Given the description of an element on the screen output the (x, y) to click on. 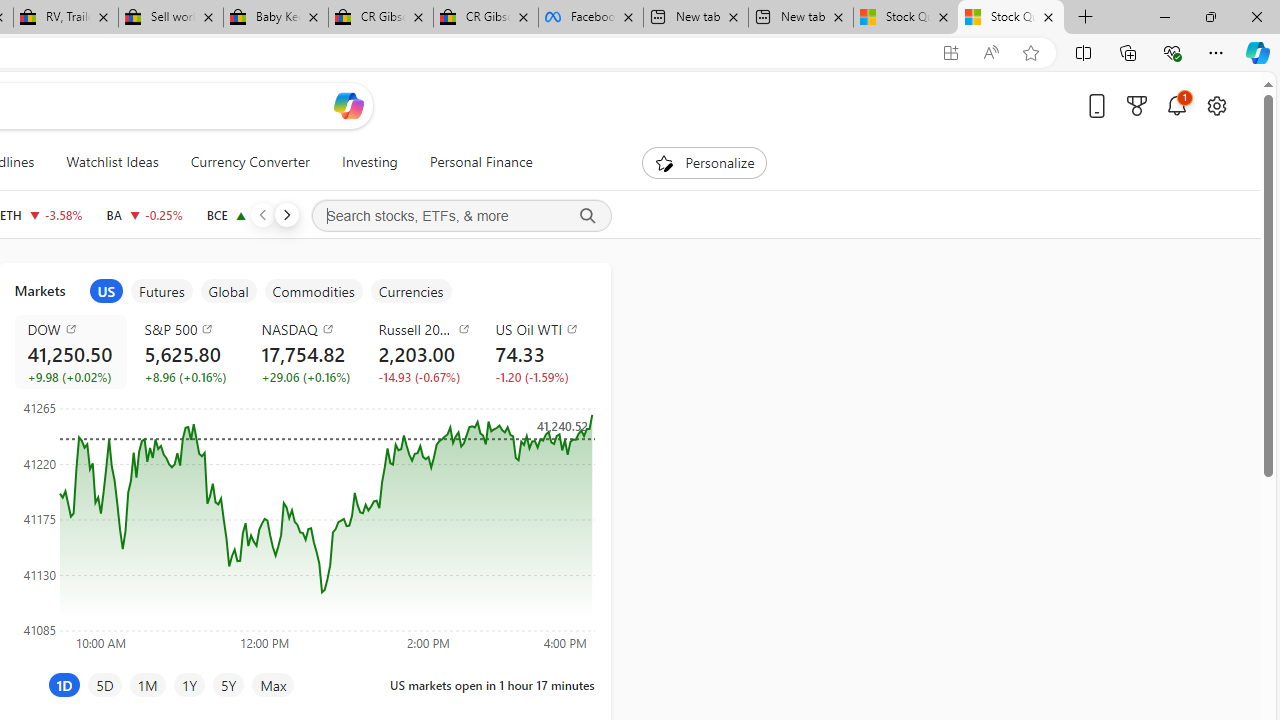
Previous (262, 214)
5Y (228, 684)
Watchlist Ideas (112, 162)
1M (147, 684)
1D (64, 684)
Baby Keepsakes & Announcements for sale | eBay (275, 17)
Futures (161, 291)
Investing (369, 162)
S&P 500 INX increase 5,625.80 +8.96 +0.16% (187, 351)
NASDAQ COMP increase 17,754.82 +29.06 +0.16% (304, 351)
Currency Converter (250, 162)
